Given the description of an element on the screen output the (x, y) to click on. 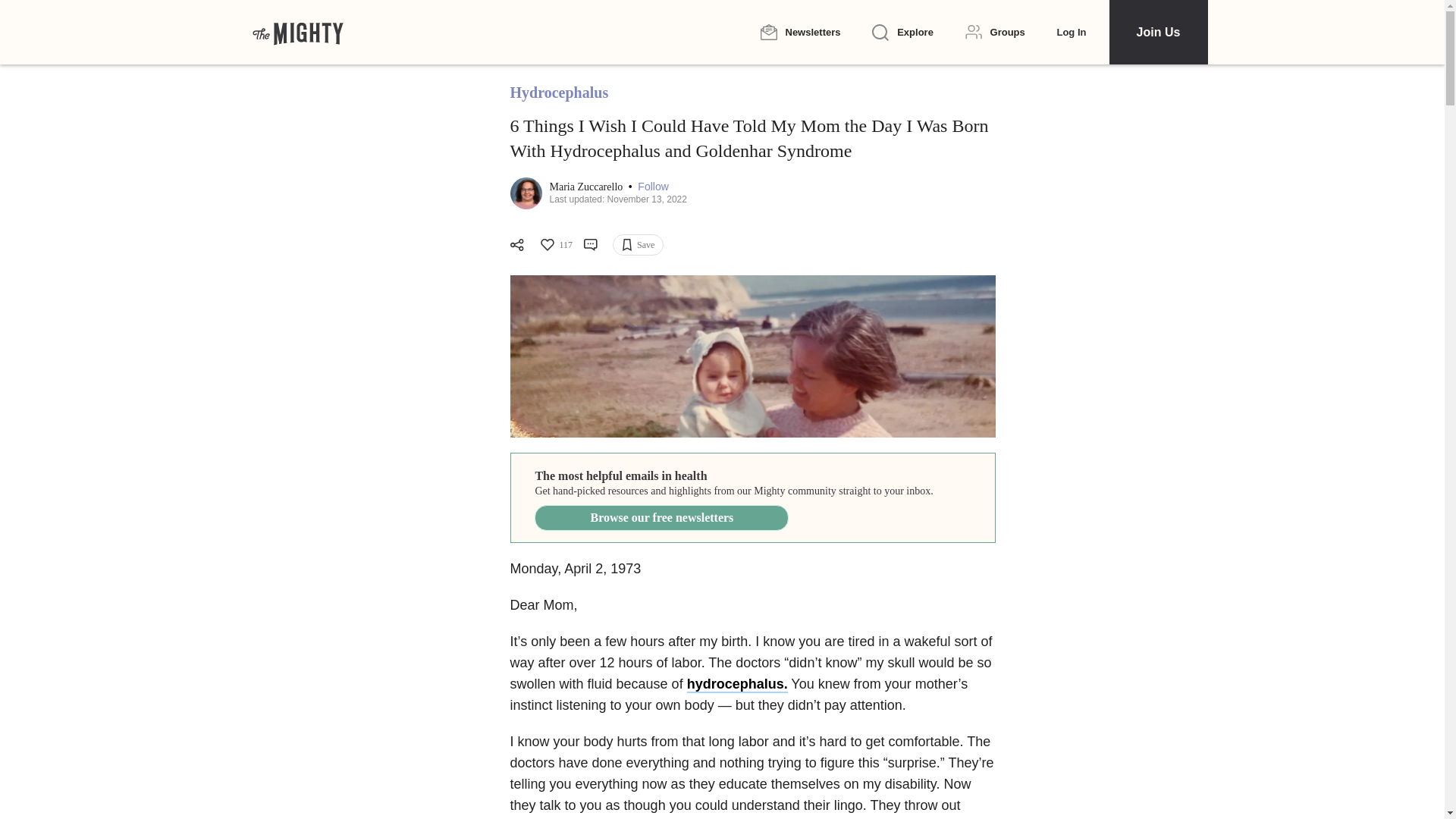
Newsletters (800, 31)
117 (555, 244)
Browse our free newsletters (661, 517)
Follow (652, 186)
Groups (995, 32)
hydrocephalus. (737, 684)
Hydrocephalus (558, 92)
The Mighty (296, 32)
Explore (902, 32)
